Given the description of an element on the screen output the (x, y) to click on. 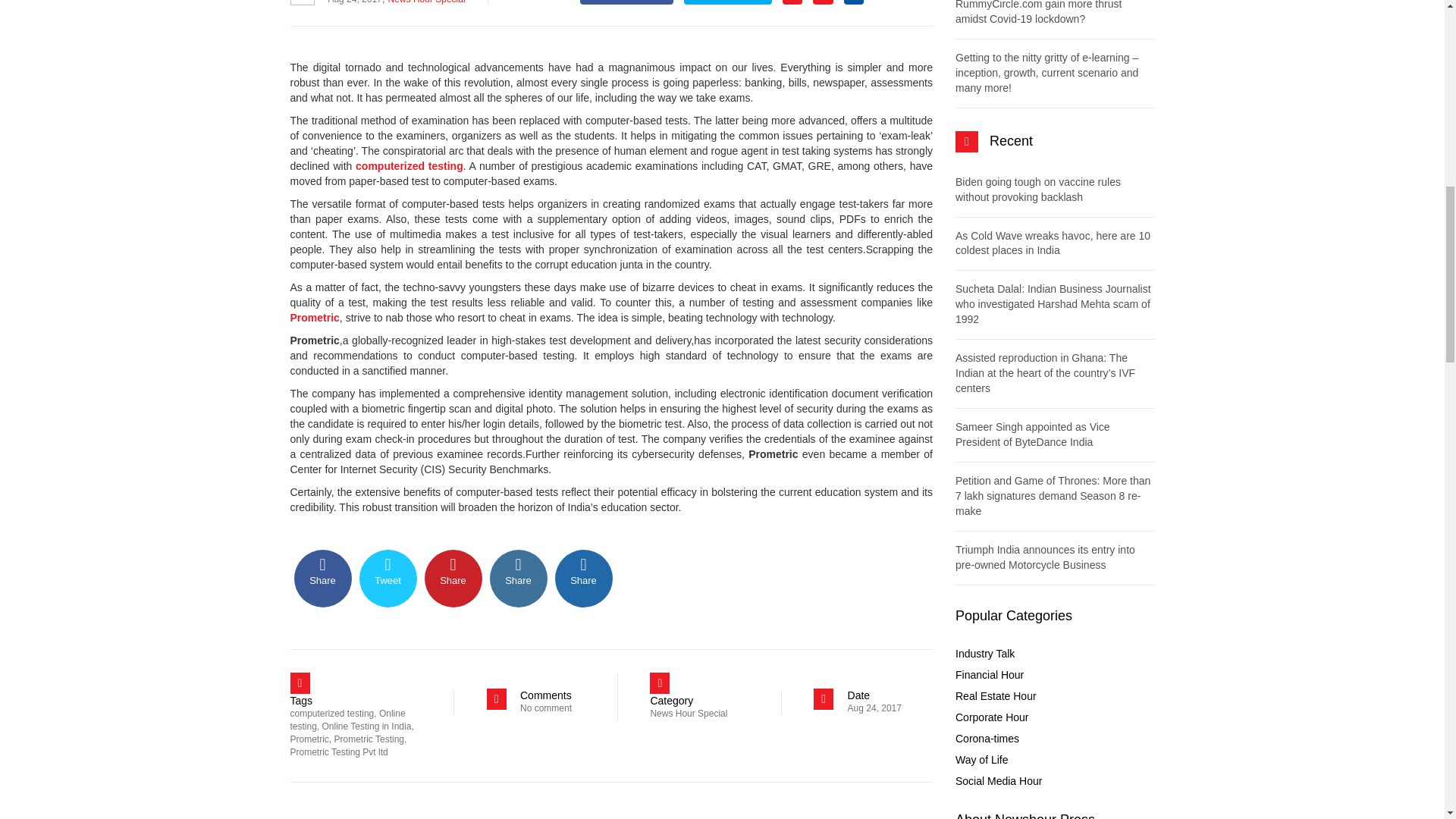
Share on LinkedIn (518, 578)
Share on Facebook (323, 578)
Share on Digg (583, 578)
Share on Twitter (387, 578)
Share on Pinterest (453, 578)
